Given the description of an element on the screen output the (x, y) to click on. 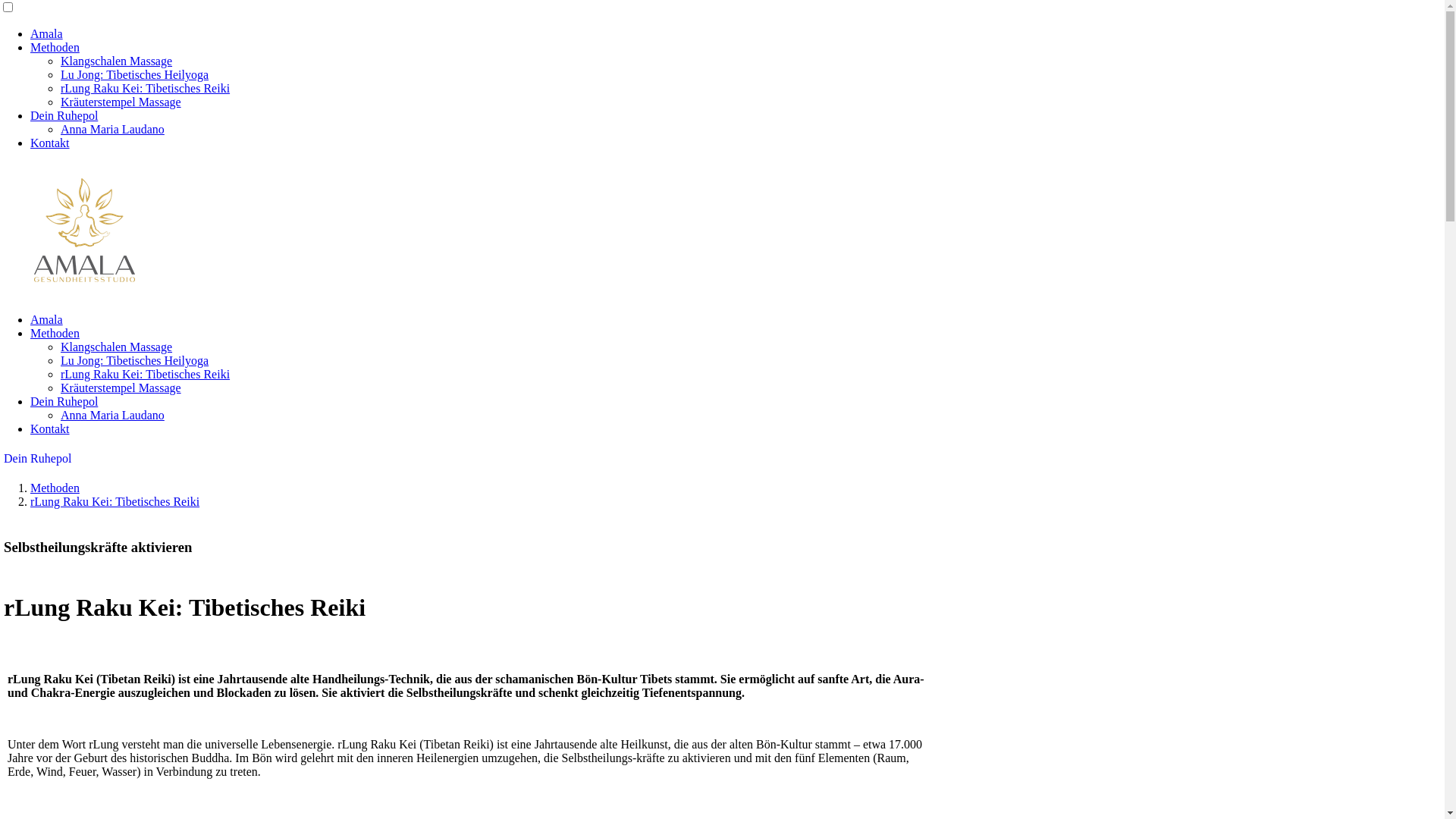
Anna Maria Laudano Element type: text (112, 128)
Methoden Element type: text (54, 487)
Lu Jong: Tibetisches Heilyoga Element type: text (134, 360)
Dein Ruhepol Element type: text (63, 401)
Kontakt Element type: text (49, 428)
rLung Raku Kei: Tibetisches Reiki Element type: text (114, 501)
Amala Element type: text (46, 319)
rLung Raku Kei: Tibetisches Reiki Element type: text (144, 87)
Kontakt Element type: text (49, 142)
Dein Ruhepol Element type: text (63, 115)
Klangschalen Massage Element type: text (116, 60)
Klangschalen Massage Element type: text (116, 346)
Methoden Element type: text (54, 332)
Lu Jong: Tibetisches Heilyoga Element type: text (134, 74)
Anna Maria Laudano Element type: text (112, 414)
rLung Raku Kei: Tibetisches Reiki Element type: text (144, 373)
Dein Ruhepol Element type: text (37, 457)
Amala Element type: text (46, 33)
Methoden Element type: text (54, 46)
